Given the description of an element on the screen output the (x, y) to click on. 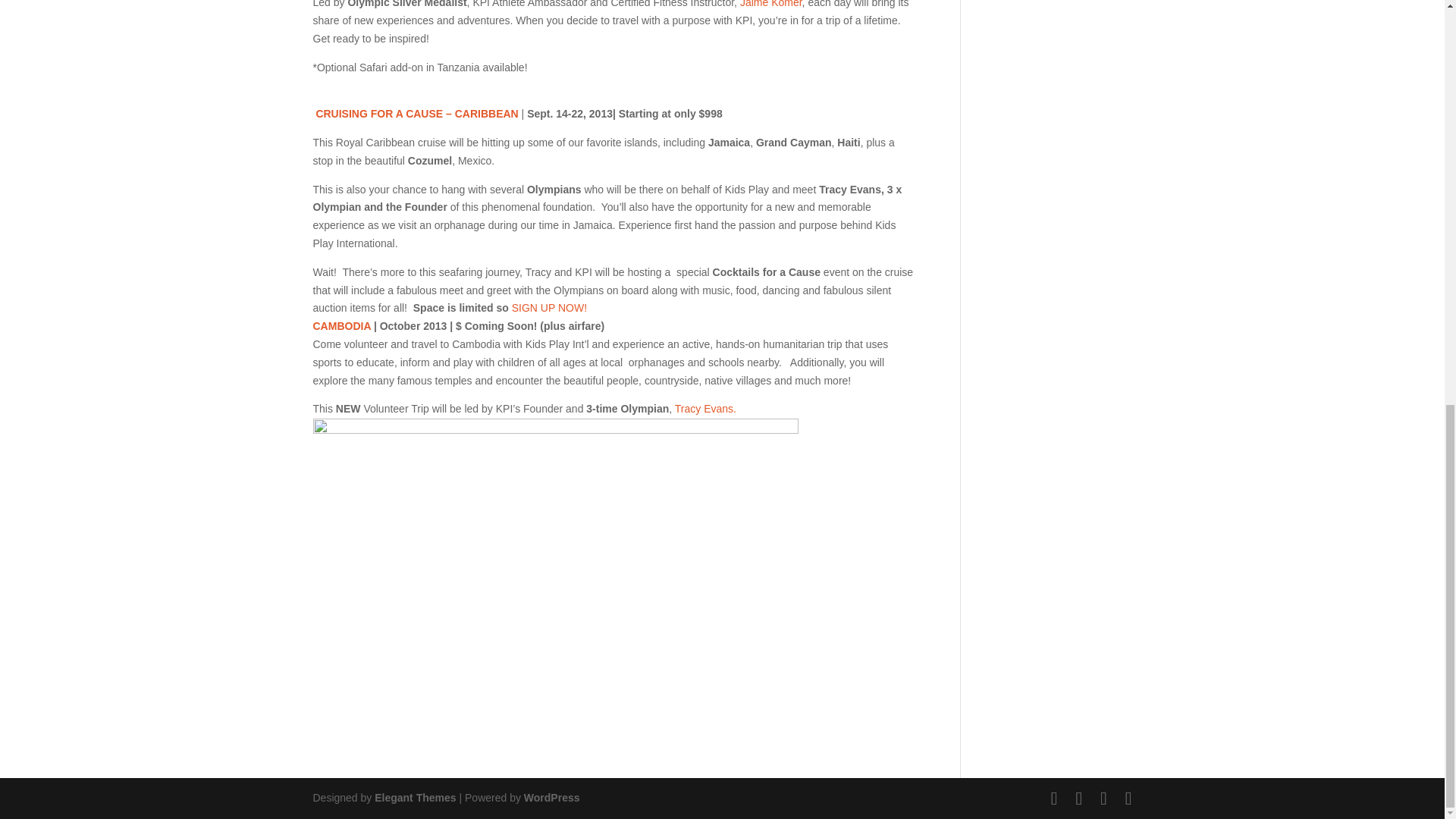
Cruising for a Cause (552, 307)
Cruising for a Cause (416, 113)
Premium WordPress Themes (414, 797)
Cambodia page (341, 326)
